Given the description of an element on the screen output the (x, y) to click on. 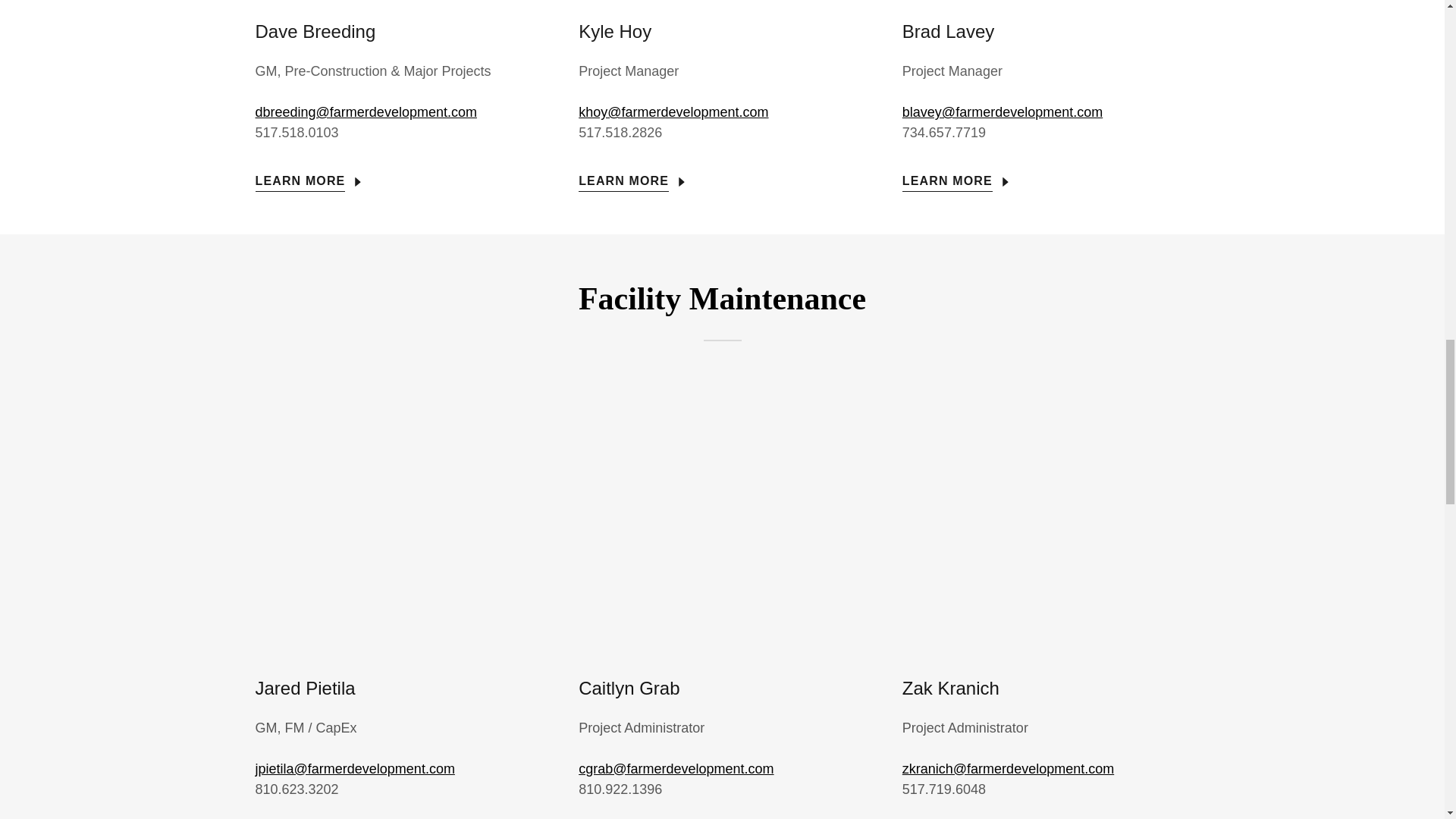
LEARN MORE (310, 176)
LEARN MORE (633, 176)
